Given the description of an element on the screen output the (x, y) to click on. 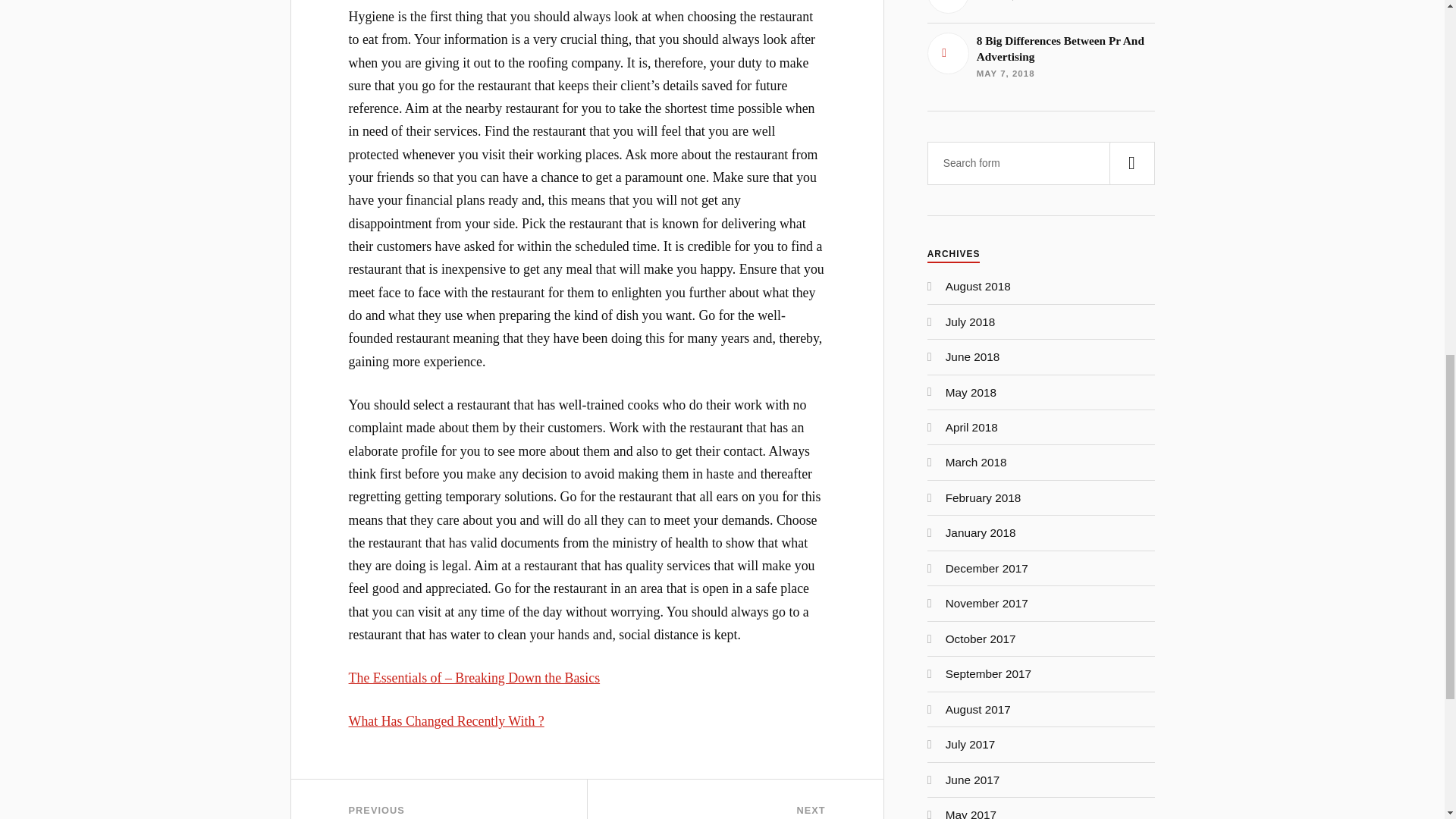
September 2017 (987, 673)
July 2017 (969, 744)
August 2018 (977, 286)
October 2017 (980, 638)
December 2017 (985, 567)
January 2018 (980, 532)
What Has Changed Recently With ? (1040, 6)
Home Based Business Reviews (446, 720)
8 Big Differences Between Pr And Advertising (1040, 6)
February 2018 (1040, 56)
August 2017 (983, 497)
May 2018 (977, 708)
November 2017 (1040, 56)
